Given the description of an element on the screen output the (x, y) to click on. 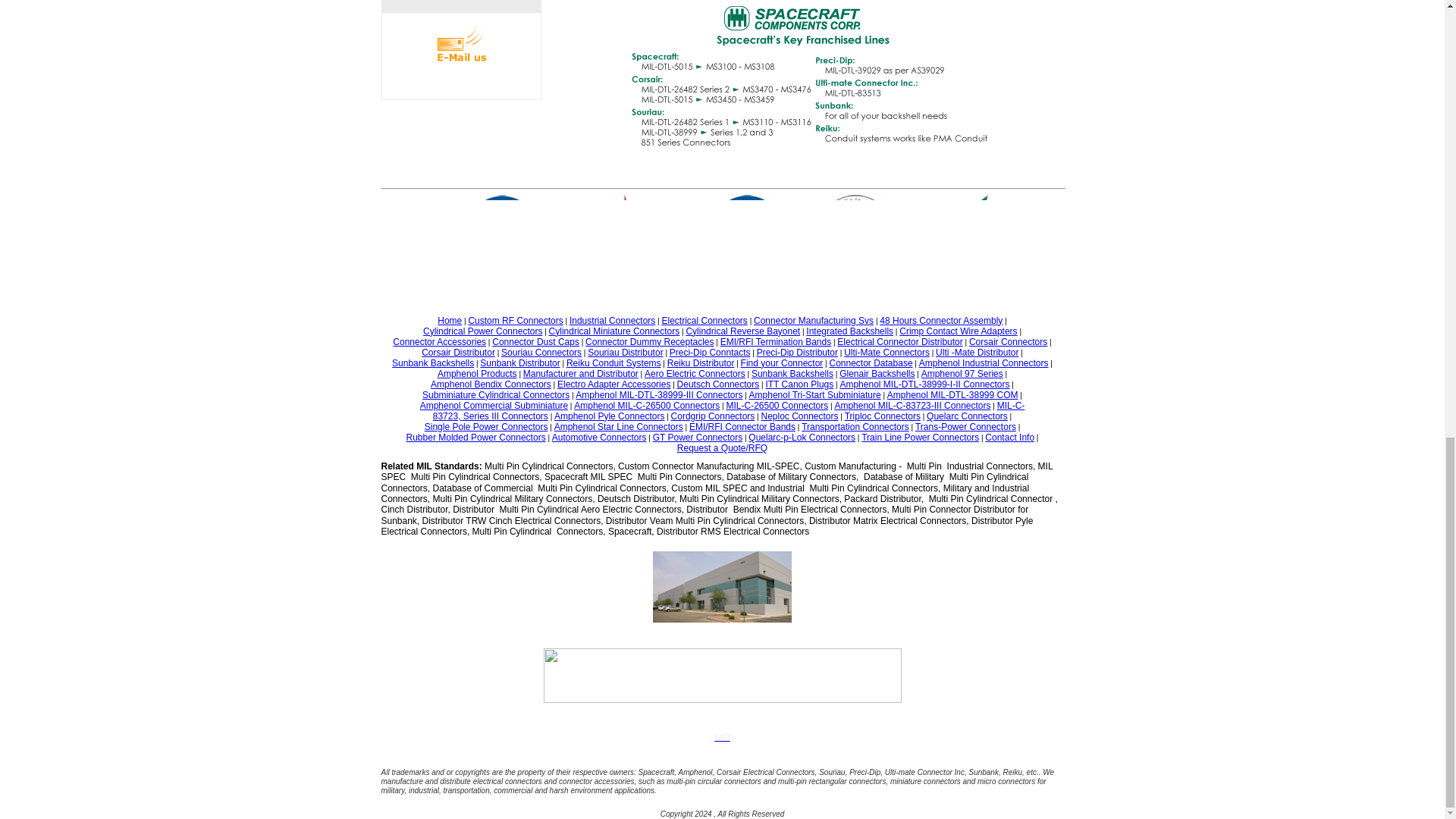
Custom RF Connectors (514, 320)
Electrical Connectors (703, 320)
48 Hours Connector Assembly (941, 320)
Cylindrical Miniature Connectors (613, 330)
Connector Accessories (439, 341)
Cylindrical Power Connectors (482, 330)
Connector Manufacturing Svs (813, 320)
Crimp Contact Wire Adapters (957, 330)
Cylindrical Reverse Bayonet (742, 330)
Integrated Backshells (849, 330)
Home (449, 320)
Industrial Connectors (612, 320)
